Given the description of an element on the screen output the (x, y) to click on. 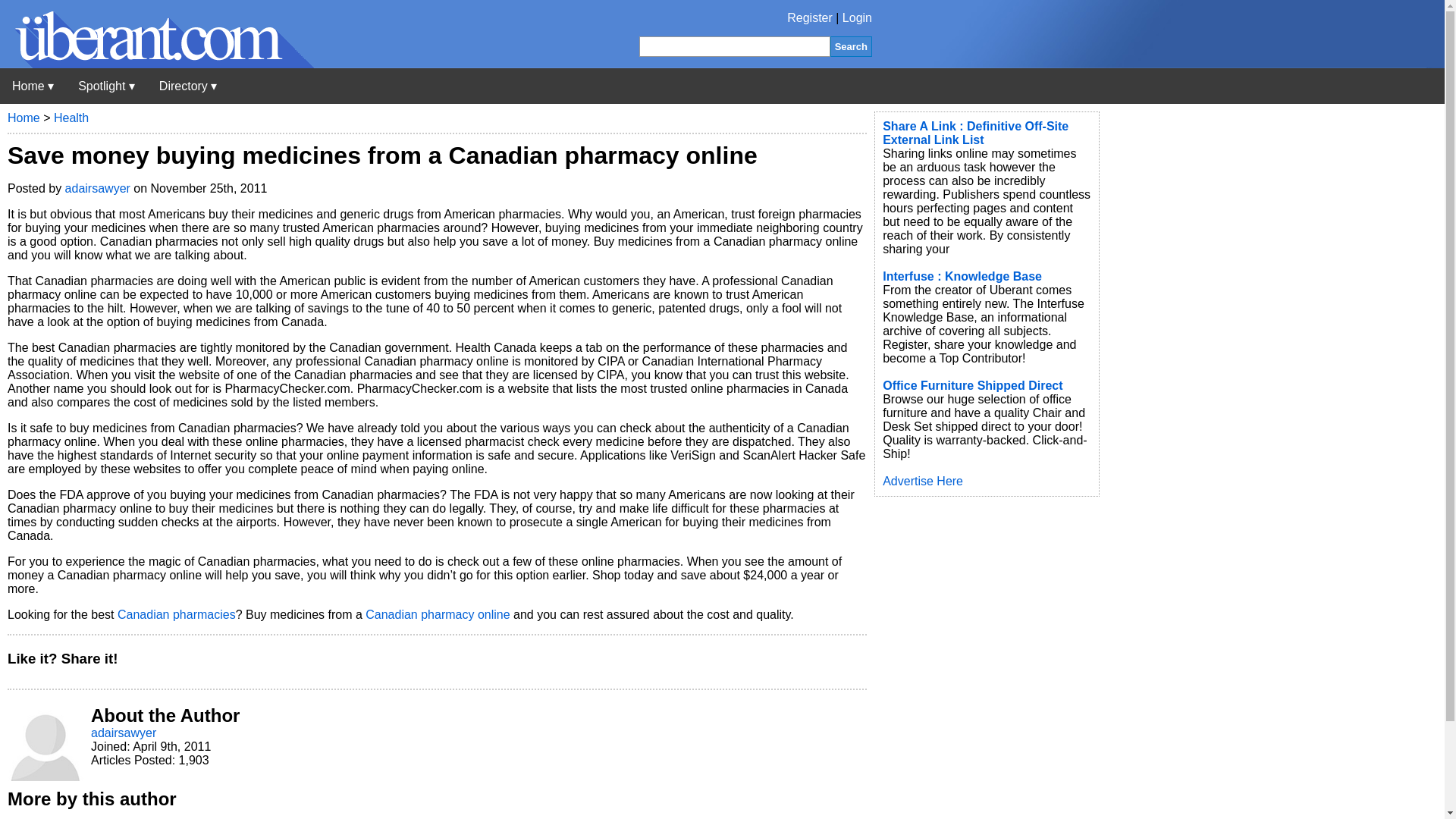
Login (857, 17)
Search (850, 46)
Register (809, 17)
Uberant (32, 85)
Uberant (157, 63)
Search (850, 46)
